Given the description of an element on the screen output the (x, y) to click on. 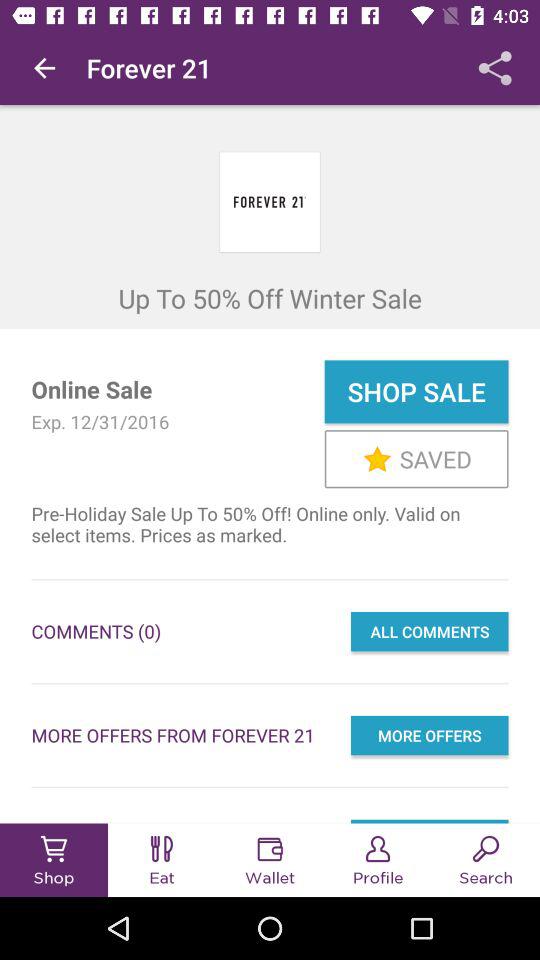
launch icon to the right of forever 21 item (495, 67)
